Given the description of an element on the screen output the (x, y) to click on. 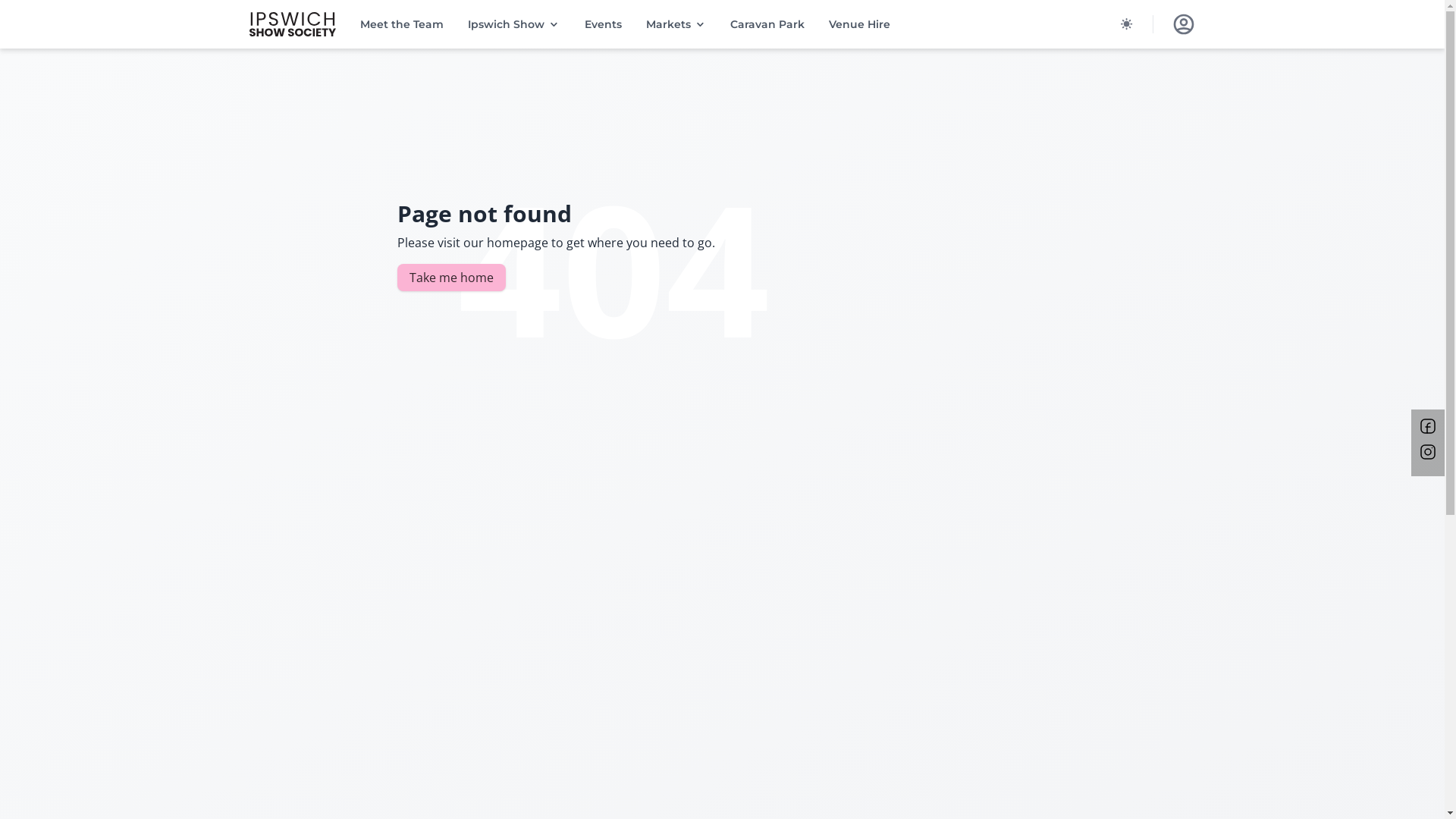
Venue Hire Element type: text (859, 23)
Events Element type: text (602, 23)
Log In Element type: hover (1182, 24)
Caravan Park Element type: text (767, 23)
Meet the Team Element type: text (401, 23)
Take me home Element type: text (451, 277)
